Given the description of an element on the screen output the (x, y) to click on. 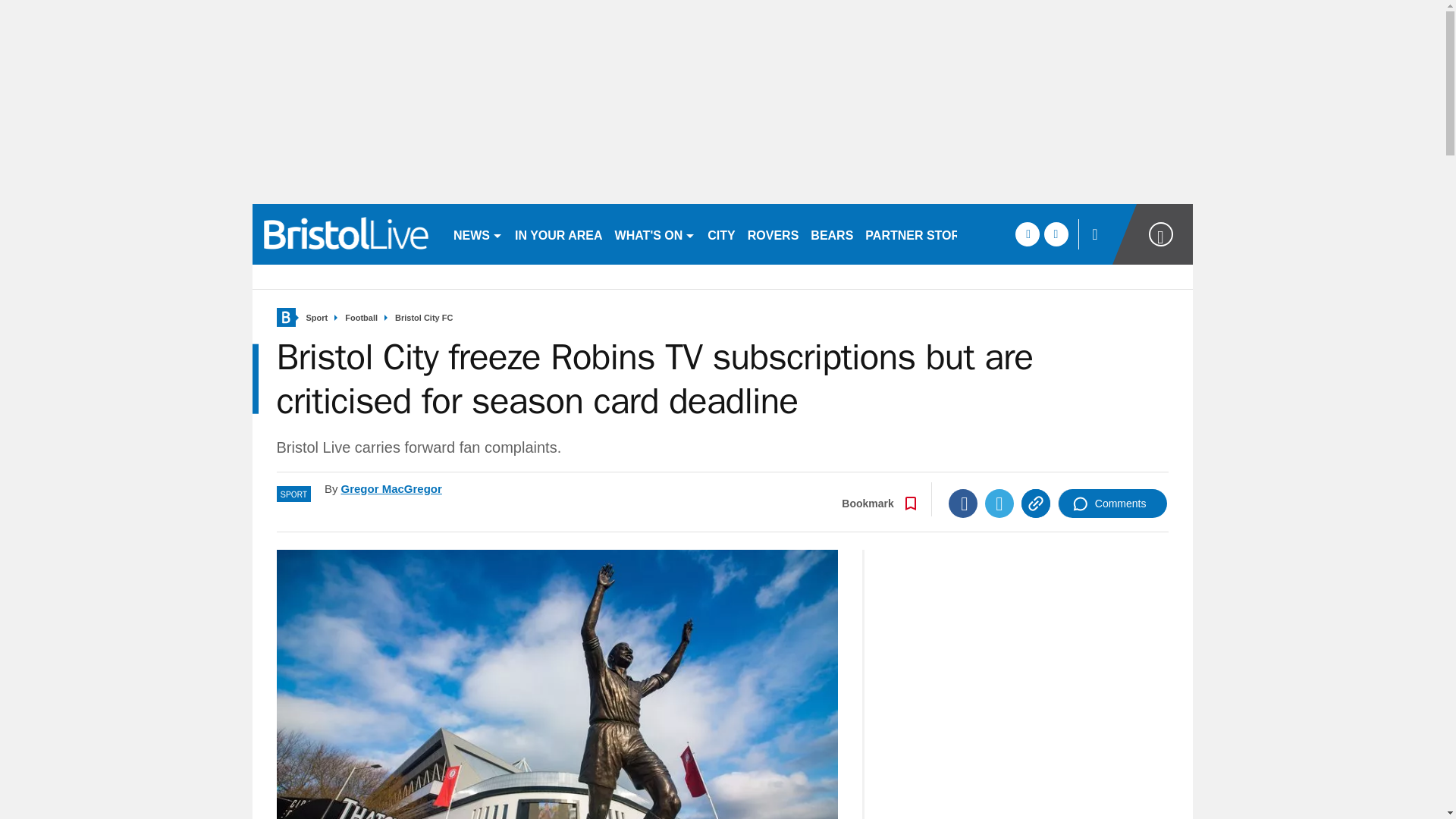
Facebook (962, 502)
Twitter (999, 502)
twitter (1055, 233)
PARTNER STORIES (922, 233)
Comments (1112, 502)
ROVERS (773, 233)
bristolpost (345, 233)
BEARS (832, 233)
NEWS (477, 233)
WHAT'S ON (654, 233)
